Given the description of an element on the screen output the (x, y) to click on. 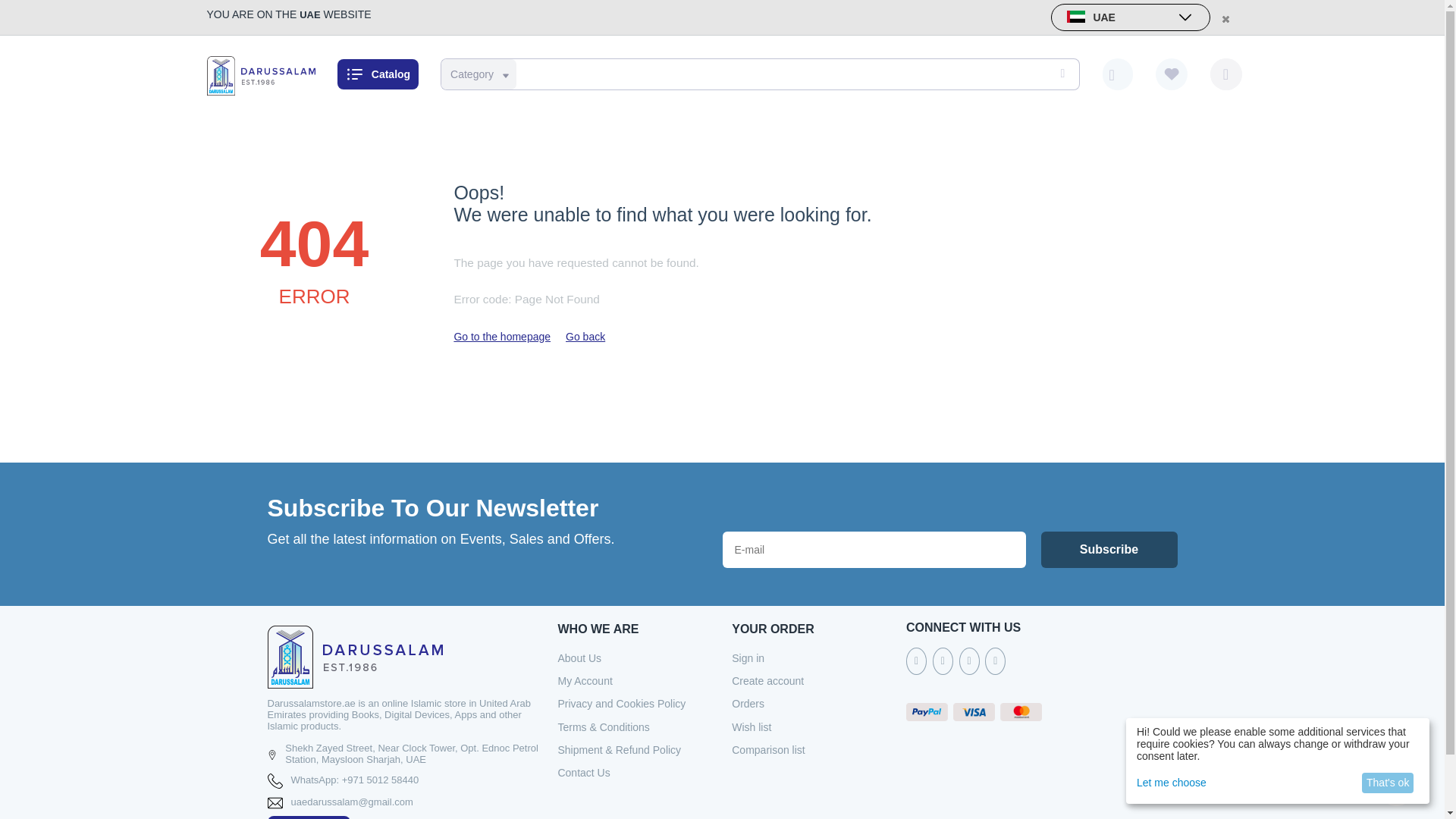
Search (1060, 74)
Darussalam Publishers (260, 73)
UAE (1130, 17)
Search products (757, 74)
Close (1224, 18)
Close (1224, 18)
